Given the description of an element on the screen output the (x, y) to click on. 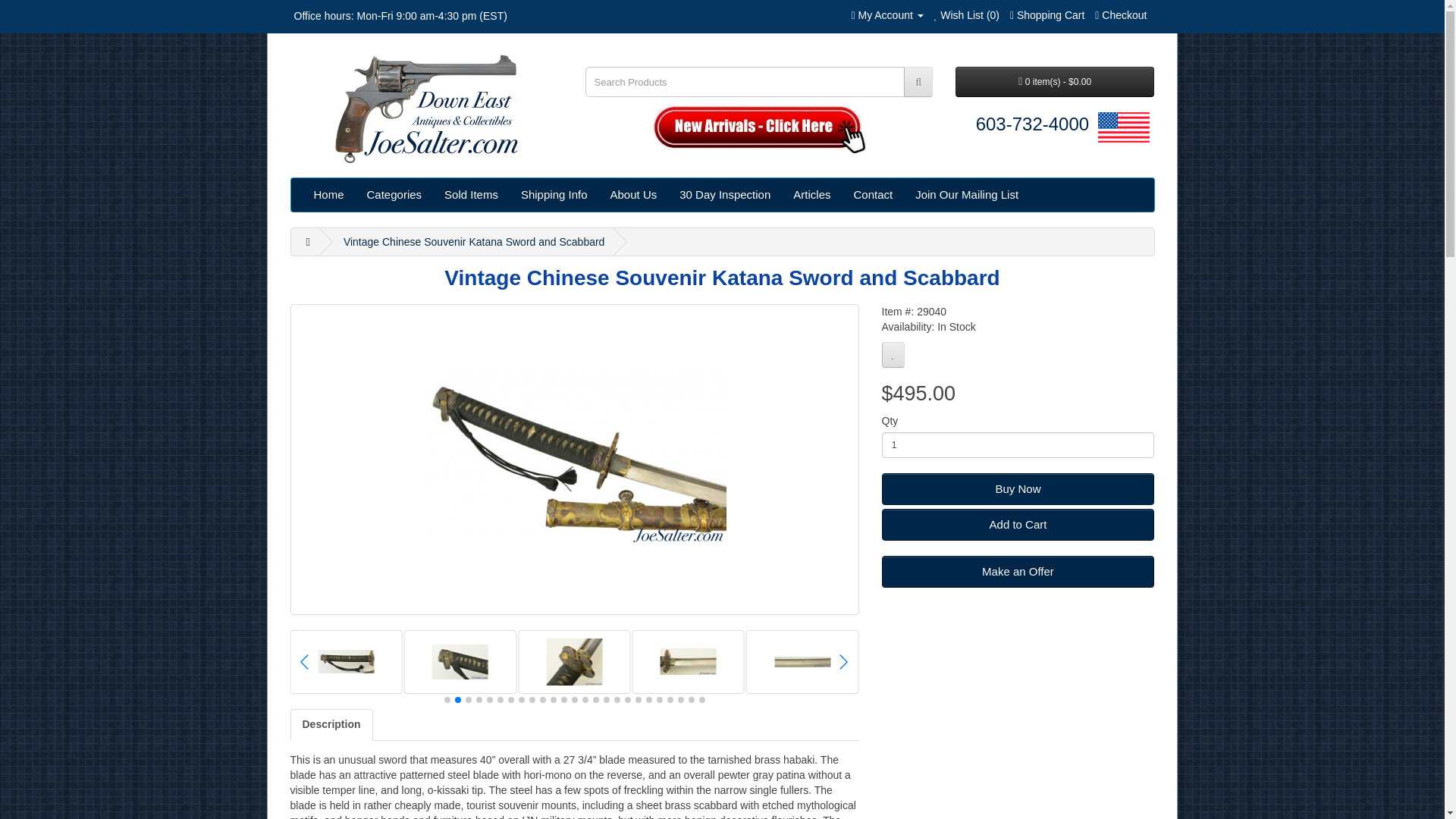
Checkout (1120, 15)
Vintage Chinese Souvenir Katana Sword and Scabbard (574, 458)
603-732-4000 (1032, 123)
My Account (886, 15)
New Arrivals (758, 128)
1 (1017, 444)
Checkout (1120, 15)
Shopping Cart (1047, 15)
Home (328, 194)
